Given the description of an element on the screen output the (x, y) to click on. 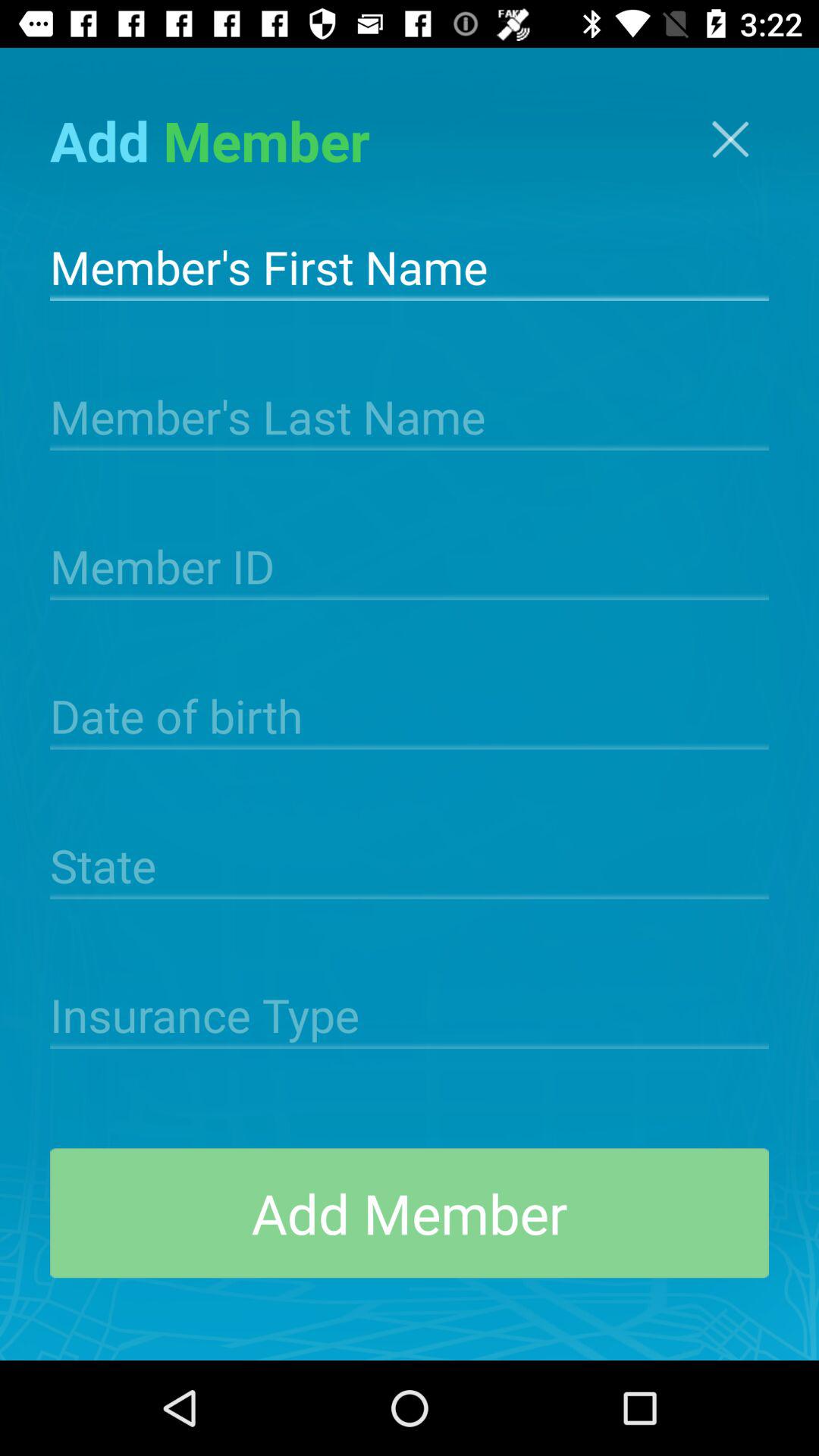
close screen/cancel button (730, 139)
